Given the description of an element on the screen output the (x, y) to click on. 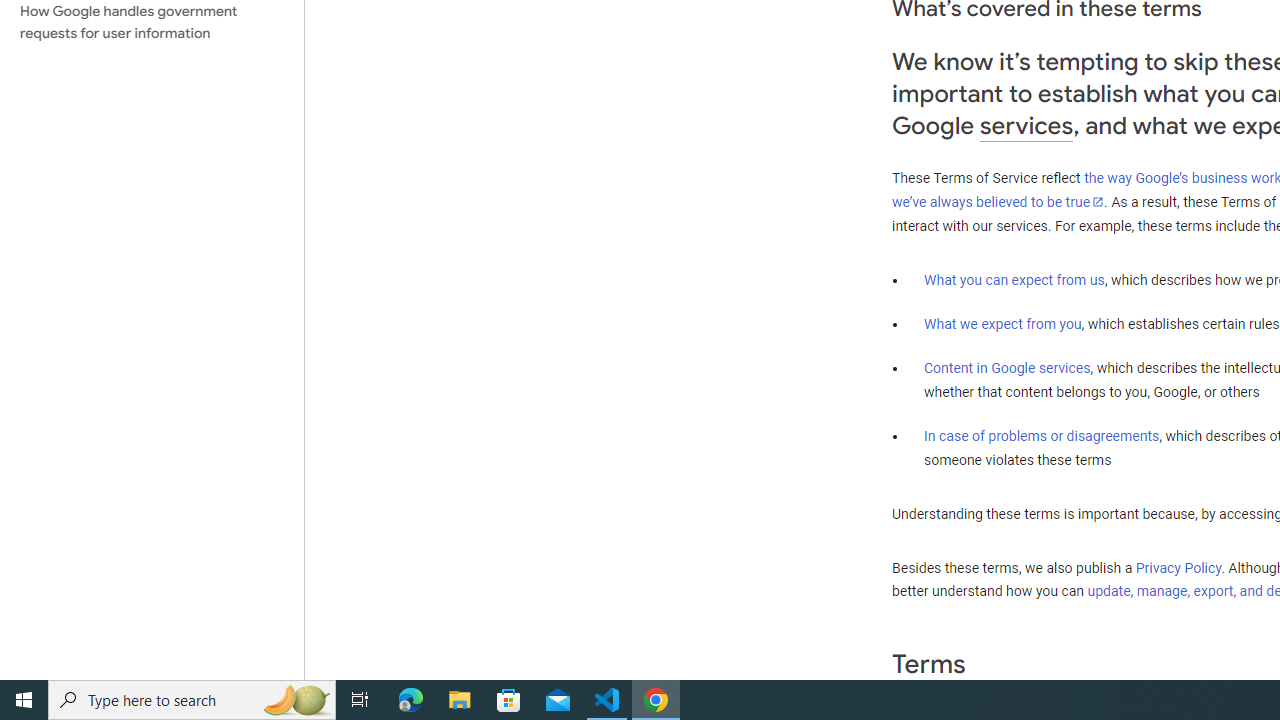
Content in Google services (1007, 368)
services (1026, 125)
Privacy Policy (1178, 567)
What you can expect from us (1014, 279)
What we expect from you (1002, 323)
In case of problems or disagreements (1041, 435)
